Given the description of an element on the screen output the (x, y) to click on. 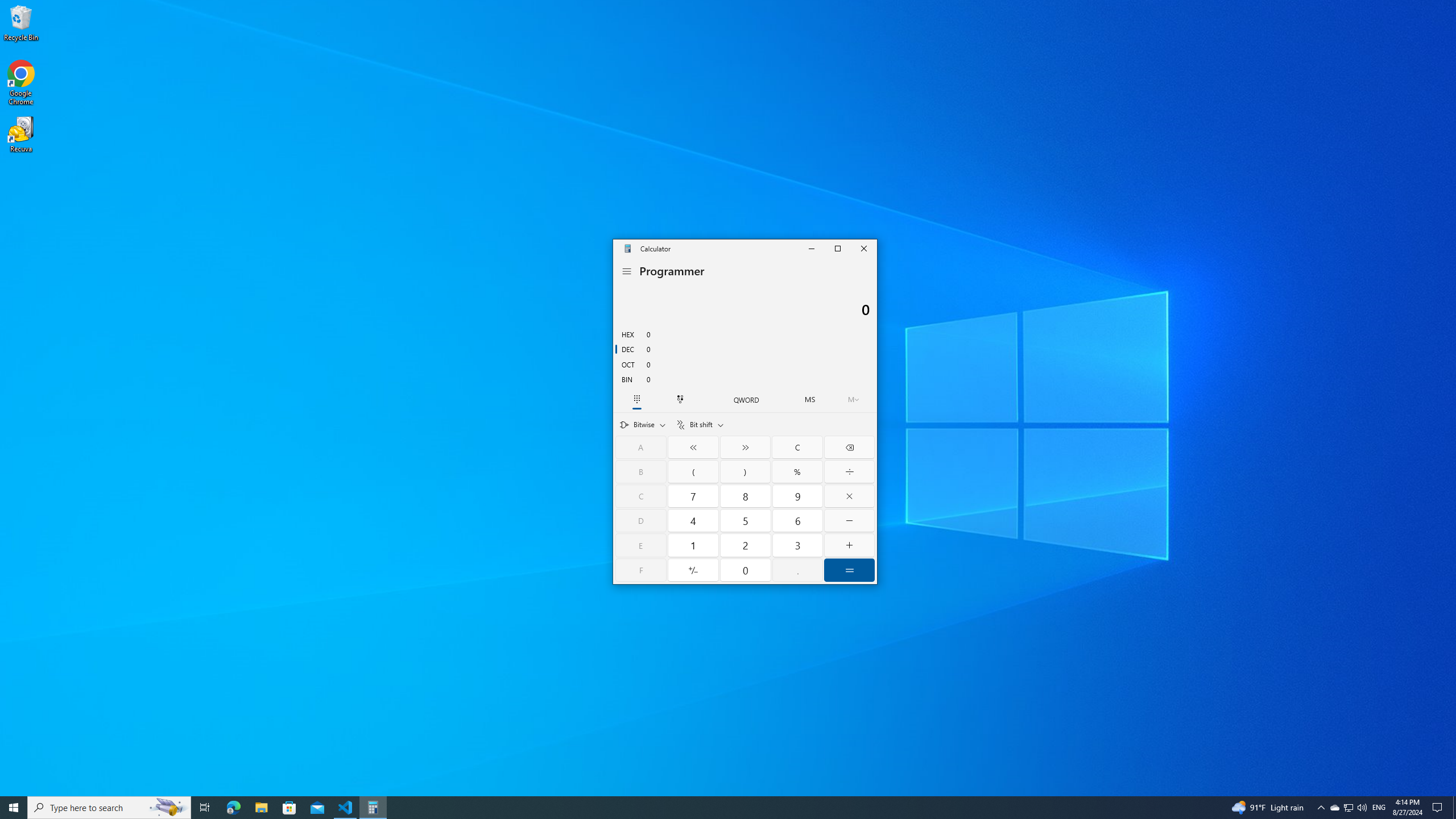
Right shift (745, 446)
Three (796, 545)
Six (796, 520)
Left shift (693, 446)
Five (745, 520)
Maximize Calculator (837, 248)
Zero (745, 569)
Memory store (810, 399)
Plus (849, 545)
Decimal 0 (745, 348)
C (640, 495)
Bitshift (699, 424)
HexaDecimal 0  (745, 333)
F (640, 569)
Bitwise (642, 423)
